Given the description of an element on the screen output the (x, y) to click on. 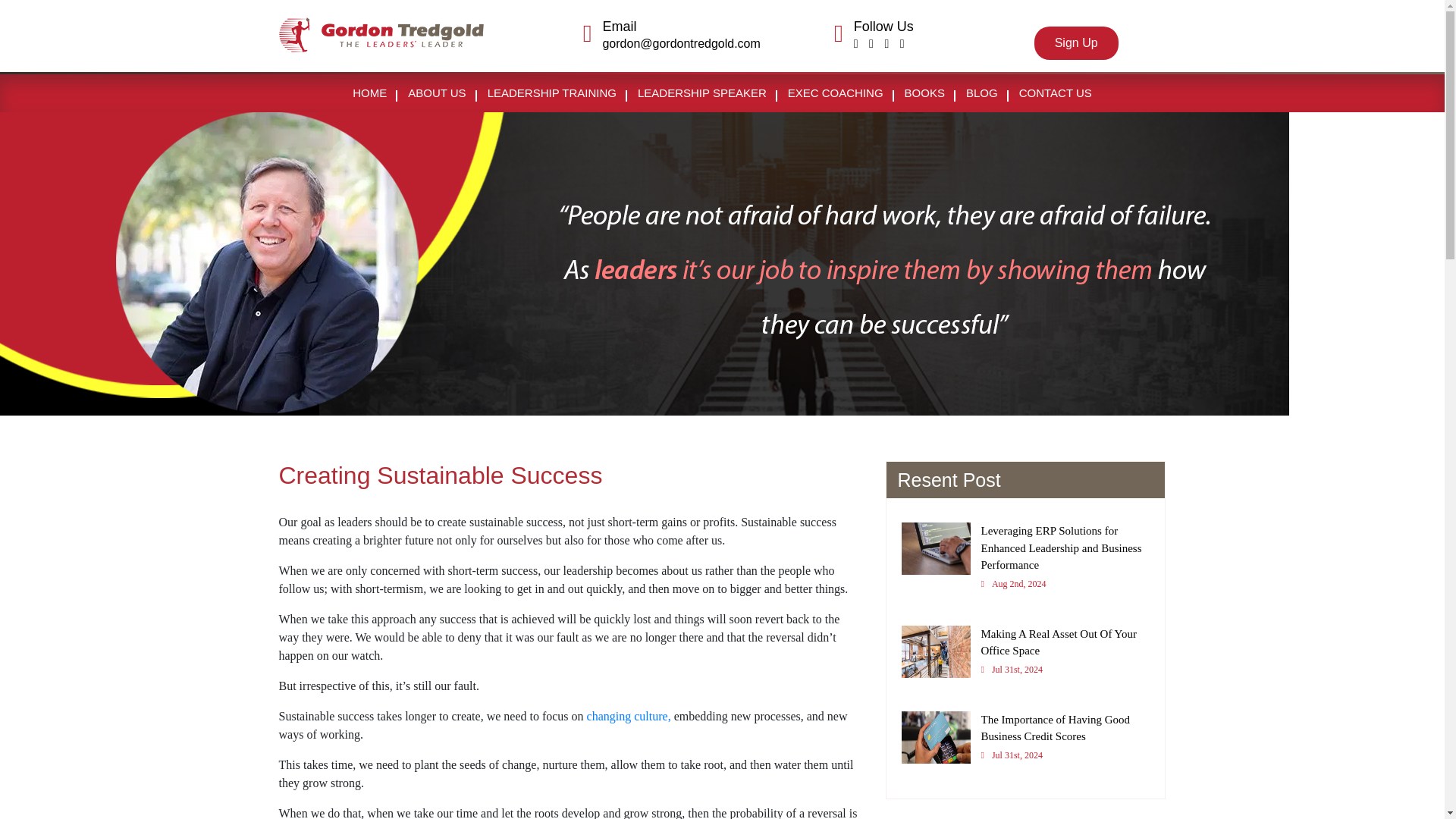
ABOUT US (436, 92)
LEADERSHIP TRAINING (552, 92)
changing culture, (627, 716)
BOOKS (924, 92)
LEADERSHIP SPEAKER (702, 92)
EXEC COACHING (835, 92)
HOME (369, 92)
Sign Up (1025, 655)
CONTACT US (1075, 42)
BLOG (1055, 92)
